Given the description of an element on the screen output the (x, y) to click on. 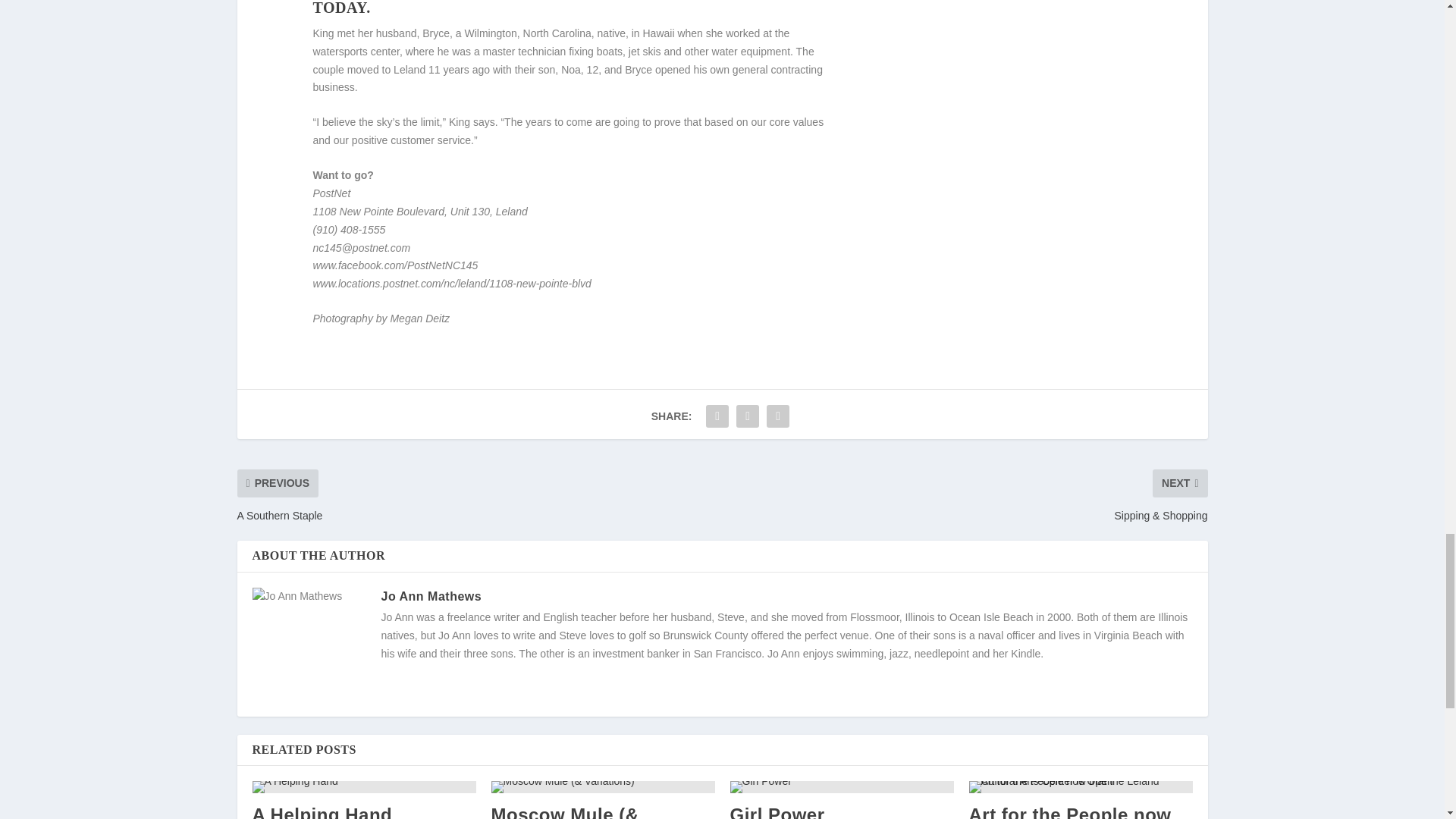
Share "Business Profile: PostNet" via Print (777, 416)
Share "Business Profile: PostNet" via Facebook (716, 416)
Photography by Megan Deitz (381, 318)
Girl Power (841, 787)
Share "Business Profile: PostNet" via Email (747, 416)
A Helping Hand (363, 787)
View all posts by Jo Ann Mathews (430, 595)
